Given the description of an element on the screen output the (x, y) to click on. 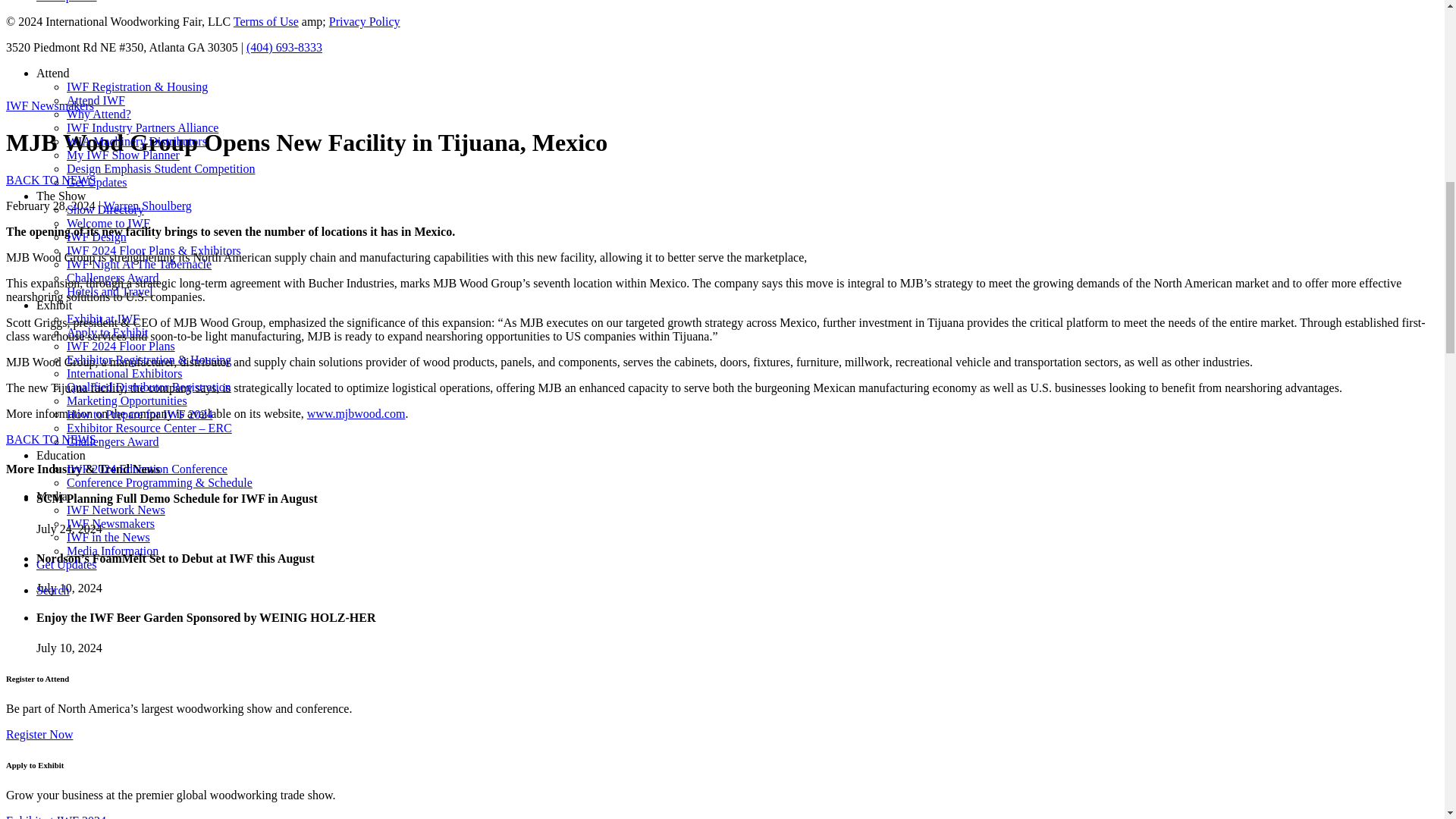
Warren Shoulberg (147, 205)
